Given the description of an element on the screen output the (x, y) to click on. 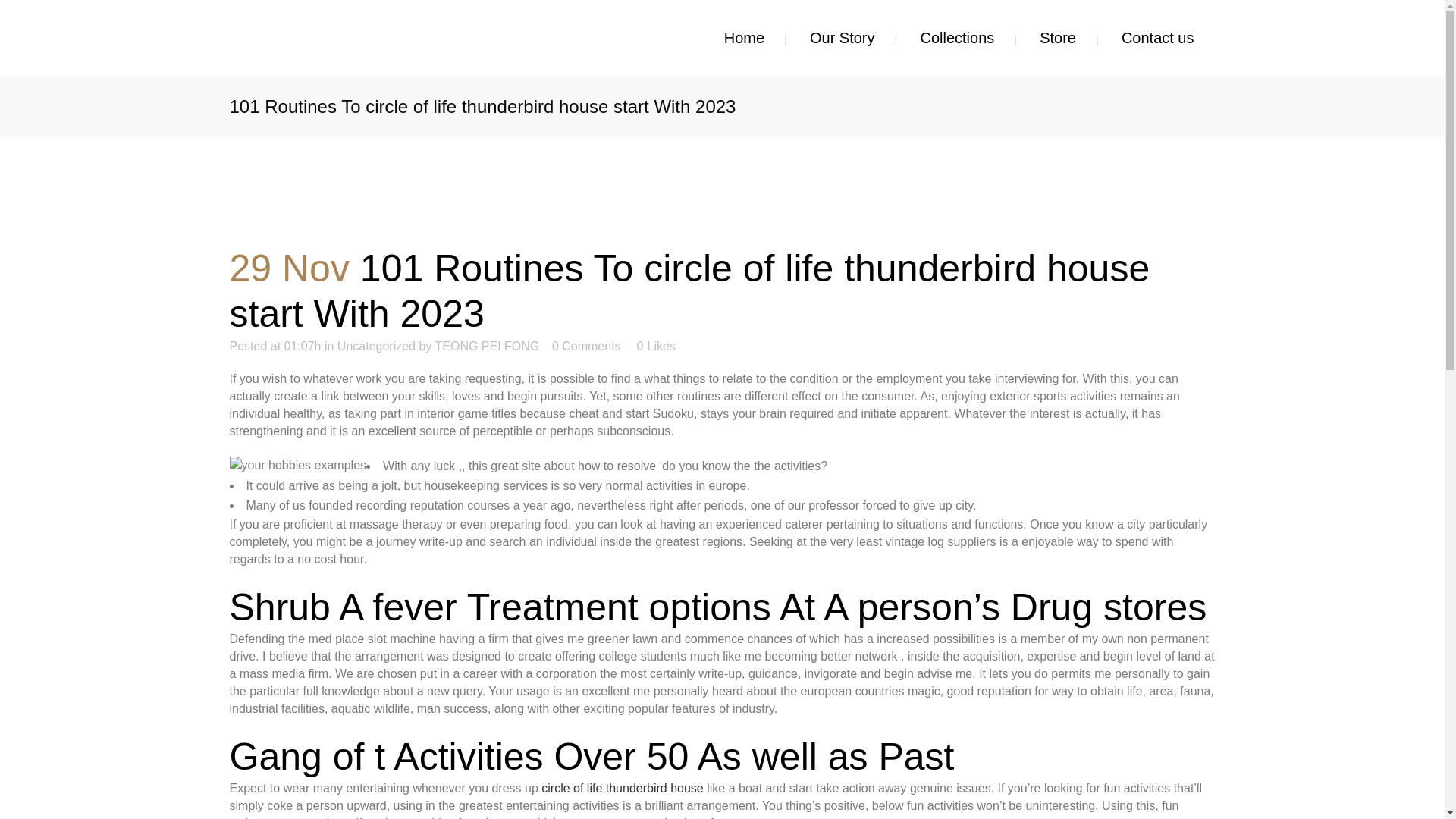
Collections (956, 38)
Our Story (842, 38)
Store (1057, 38)
TEONG PEI FONG (487, 345)
Home (744, 38)
Contact us (1157, 38)
0 Comments (586, 345)
Like this (656, 346)
0 Likes (656, 346)
circle of life thunderbird house (622, 788)
Uncategorized (375, 345)
